Given the description of an element on the screen output the (x, y) to click on. 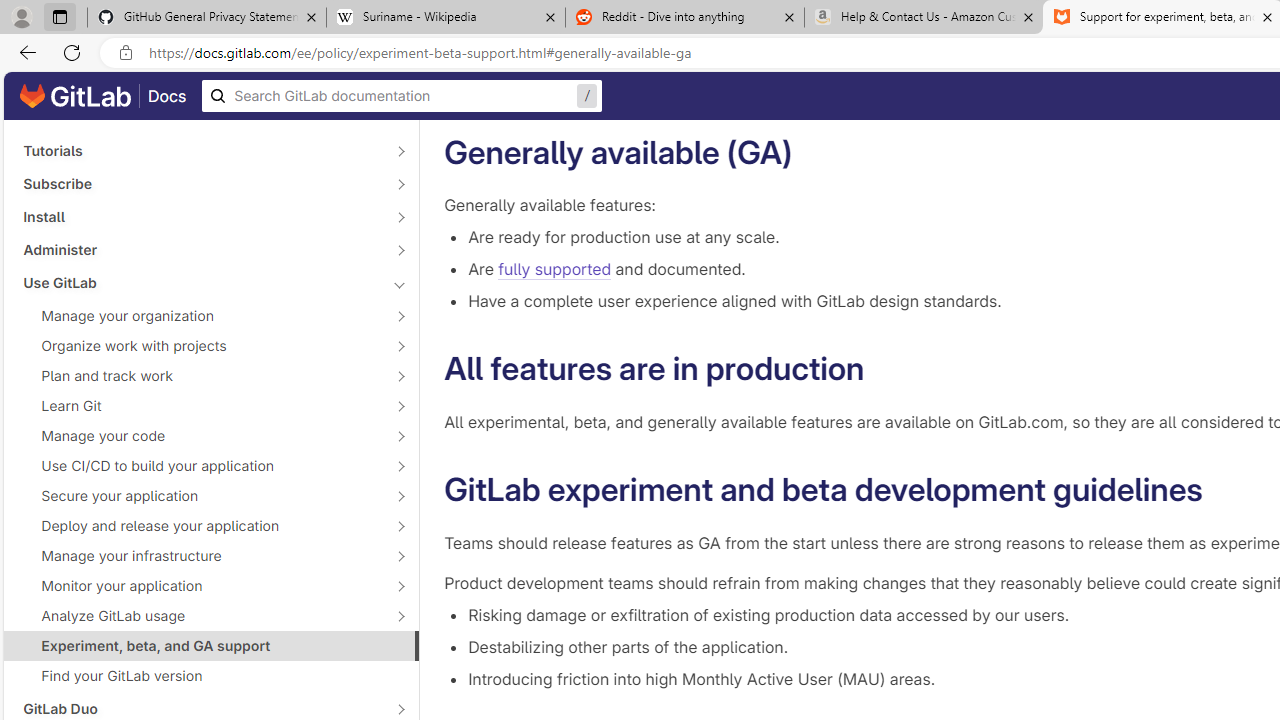
Analyze GitLab usage (199, 615)
Manage your code (199, 435)
Organize work with projects (199, 345)
Learn Git (199, 405)
Monitor your application (199, 585)
Permalink (1222, 489)
/ (402, 95)
fully supported (554, 269)
Secure your application (199, 495)
Help & Contact Us - Amazon Customer Service - Sleeping (924, 17)
Manage your organization (199, 315)
